Given the description of an element on the screen output the (x, y) to click on. 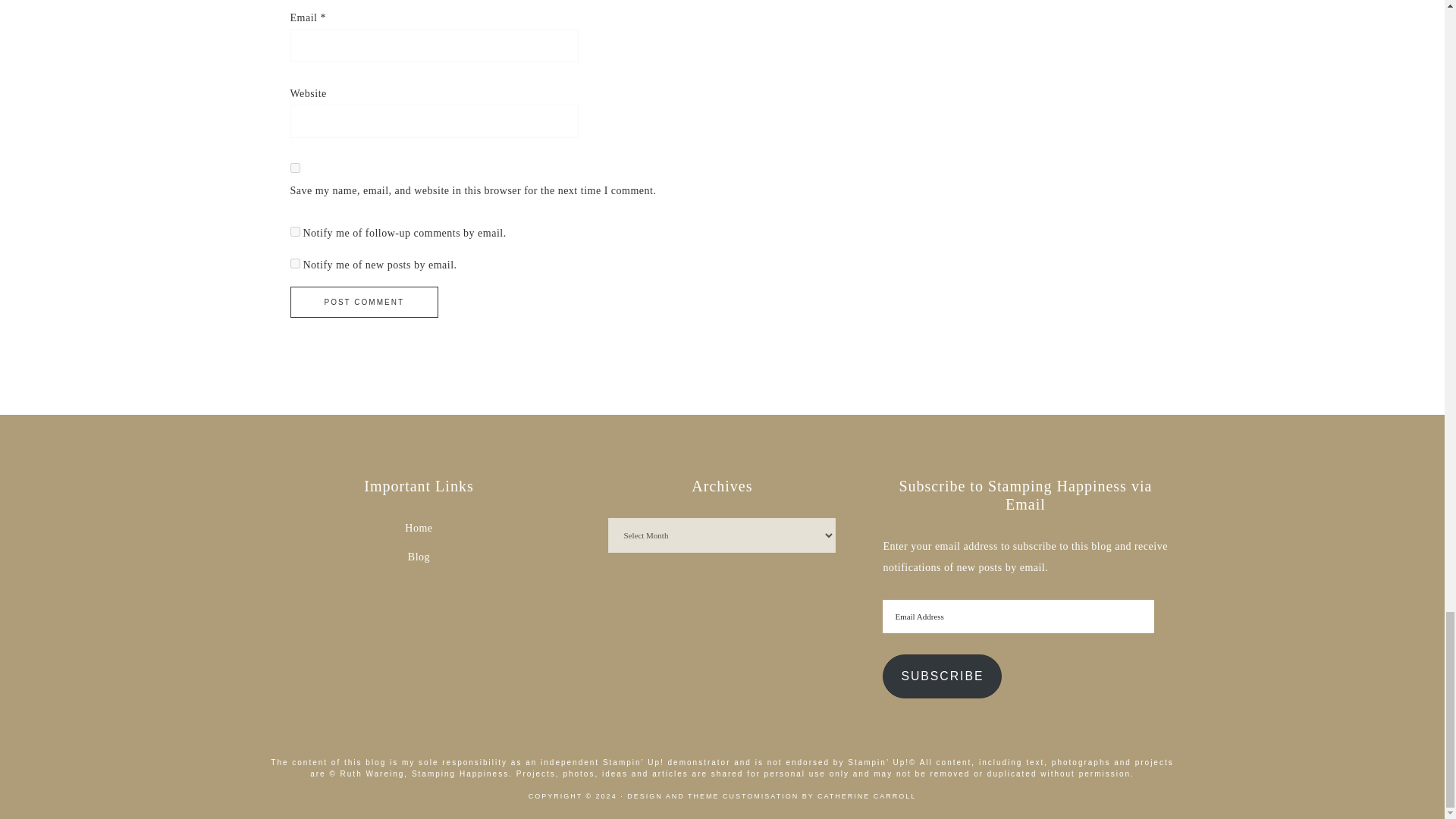
subscribe (294, 263)
Post Comment (363, 301)
yes (294, 167)
Post Comment (363, 301)
subscribe (294, 231)
